Given the description of an element on the screen output the (x, y) to click on. 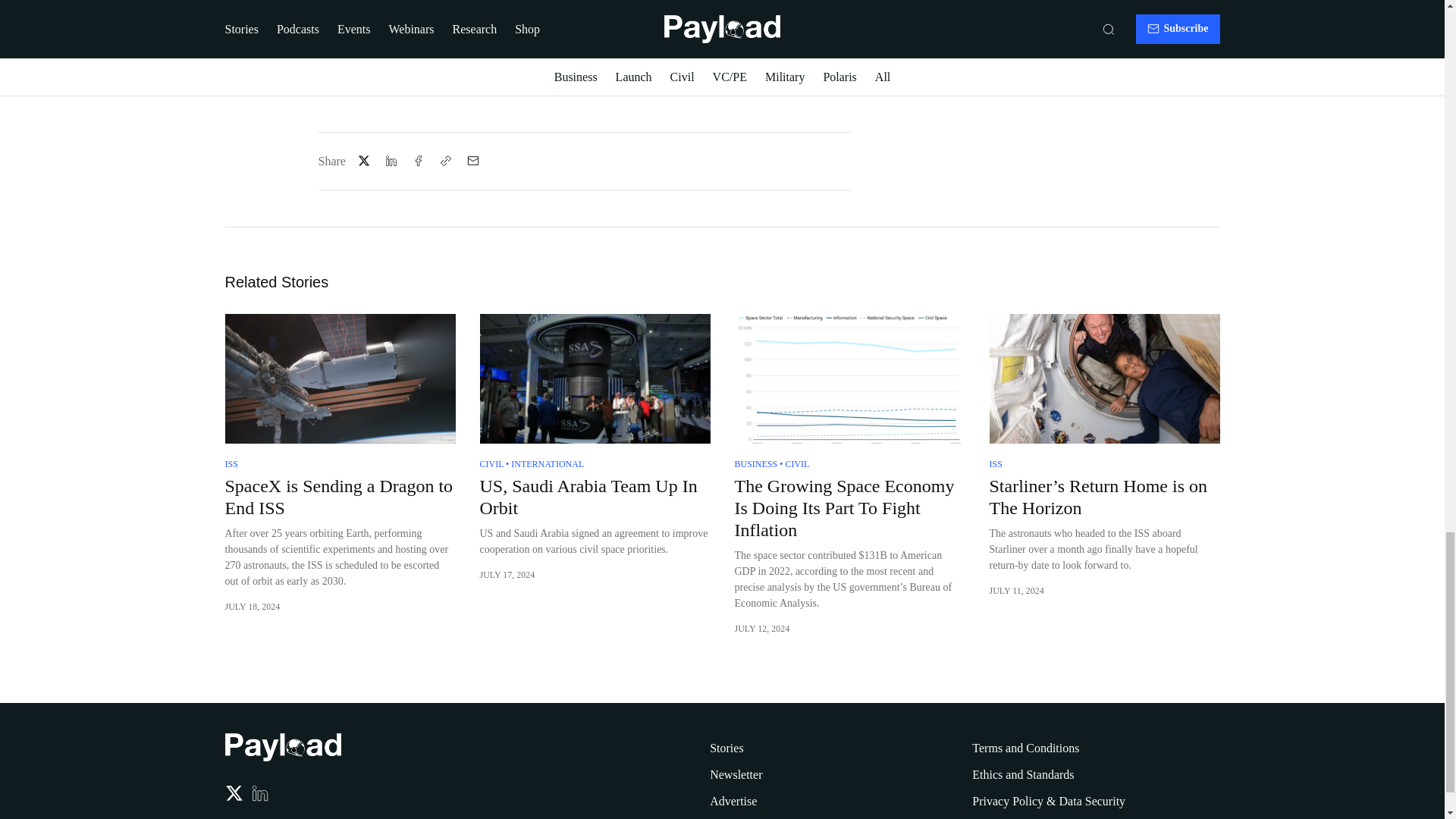
Copy to clipboard (445, 160)
